Given the description of an element on the screen output the (x, y) to click on. 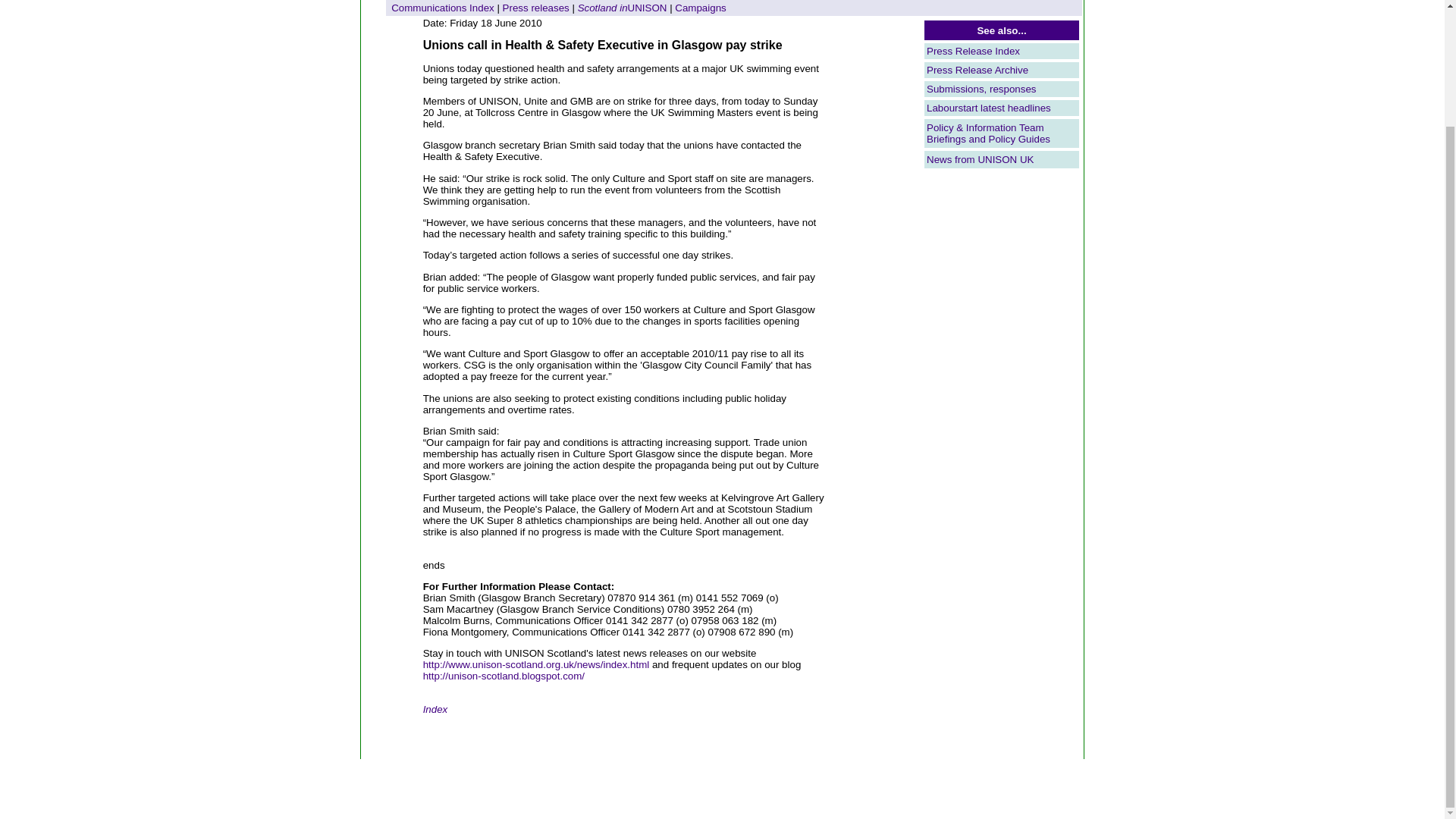
Index (435, 708)
Campaigns (700, 7)
Press releases (535, 7)
Communications Index (443, 7)
Submissions, responses (980, 89)
News from UNISON UK (979, 159)
Press Release Index (973, 50)
Labourstart latest headlines (988, 107)
Press Release Archive (976, 70)
Scotland inUNISON (622, 7)
